Given the description of an element on the screen output the (x, y) to click on. 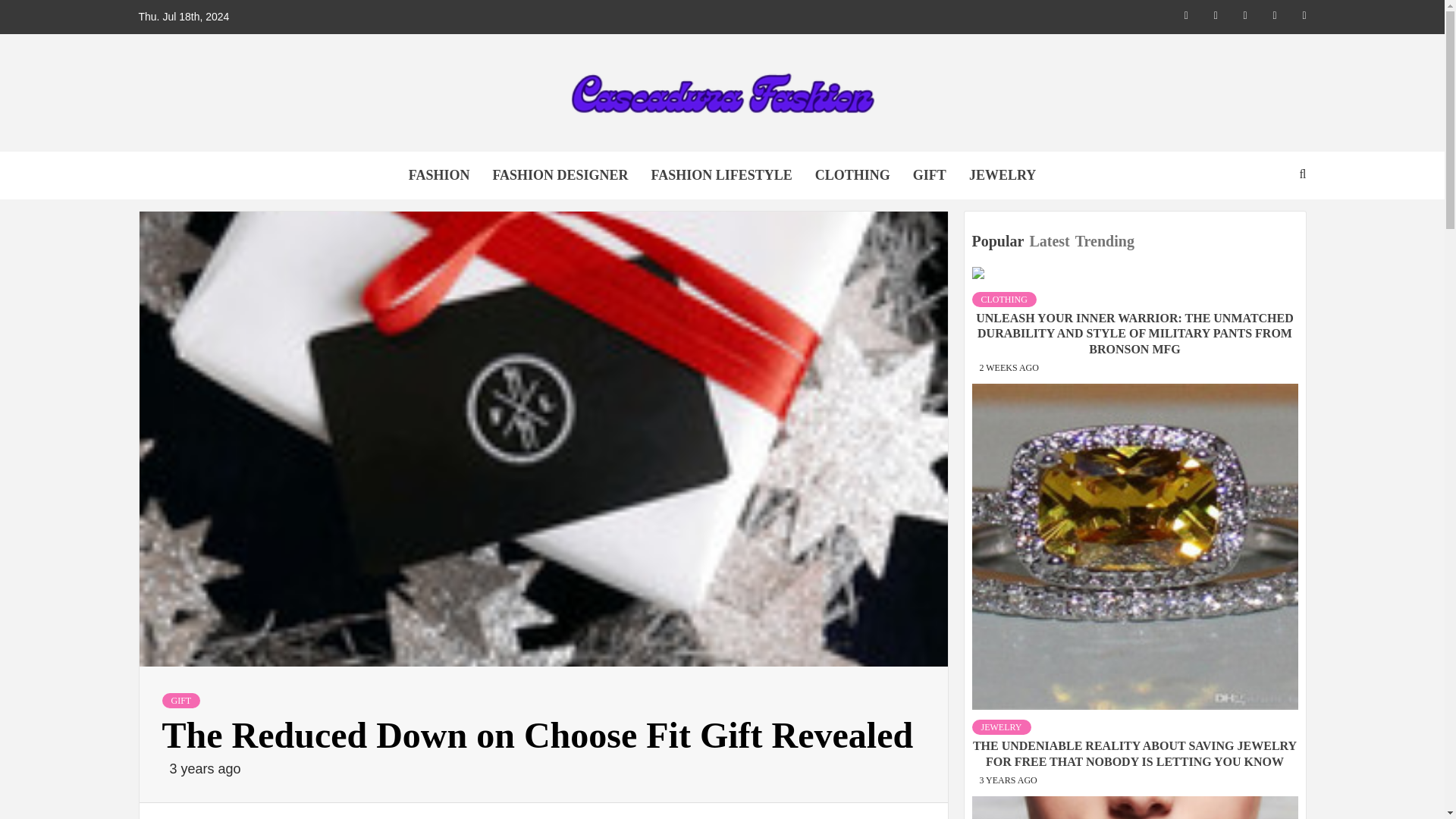
Popular (999, 241)
CLOTHING (1004, 299)
JEWELRY (1001, 726)
GIFT (180, 700)
Latest (1051, 241)
Trending (1106, 241)
JEWELRY (1002, 175)
CLOTHING (852, 175)
FASHION (439, 175)
GIFT (929, 175)
FASHION LIFESTYLE (721, 175)
FASHION DESIGNER (559, 175)
